Given the description of an element on the screen output the (x, y) to click on. 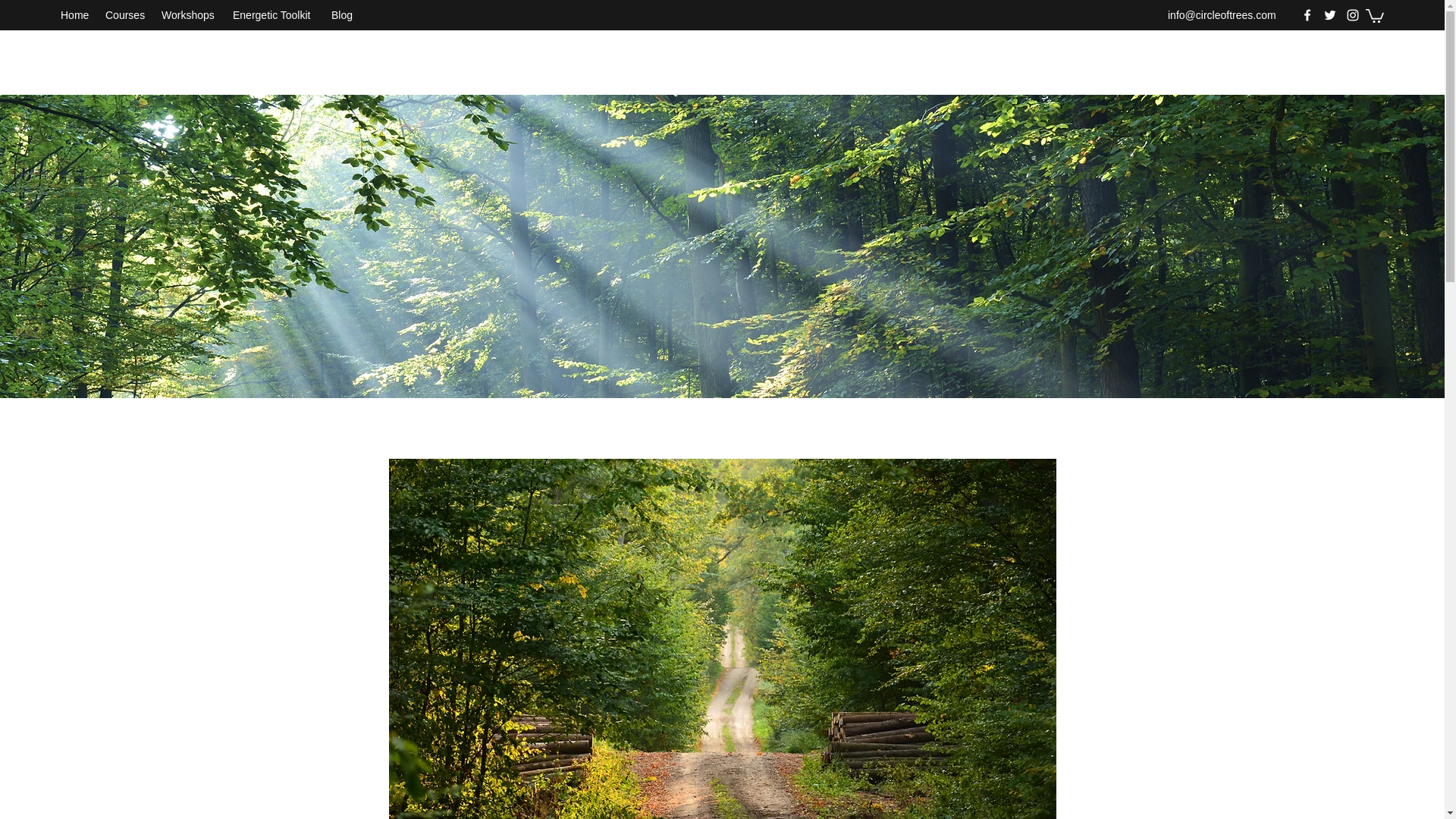
Courses (125, 15)
Energetic Toolkit (274, 15)
Home (74, 15)
Blog (342, 15)
Workshops (189, 15)
